Given the description of an element on the screen output the (x, y) to click on. 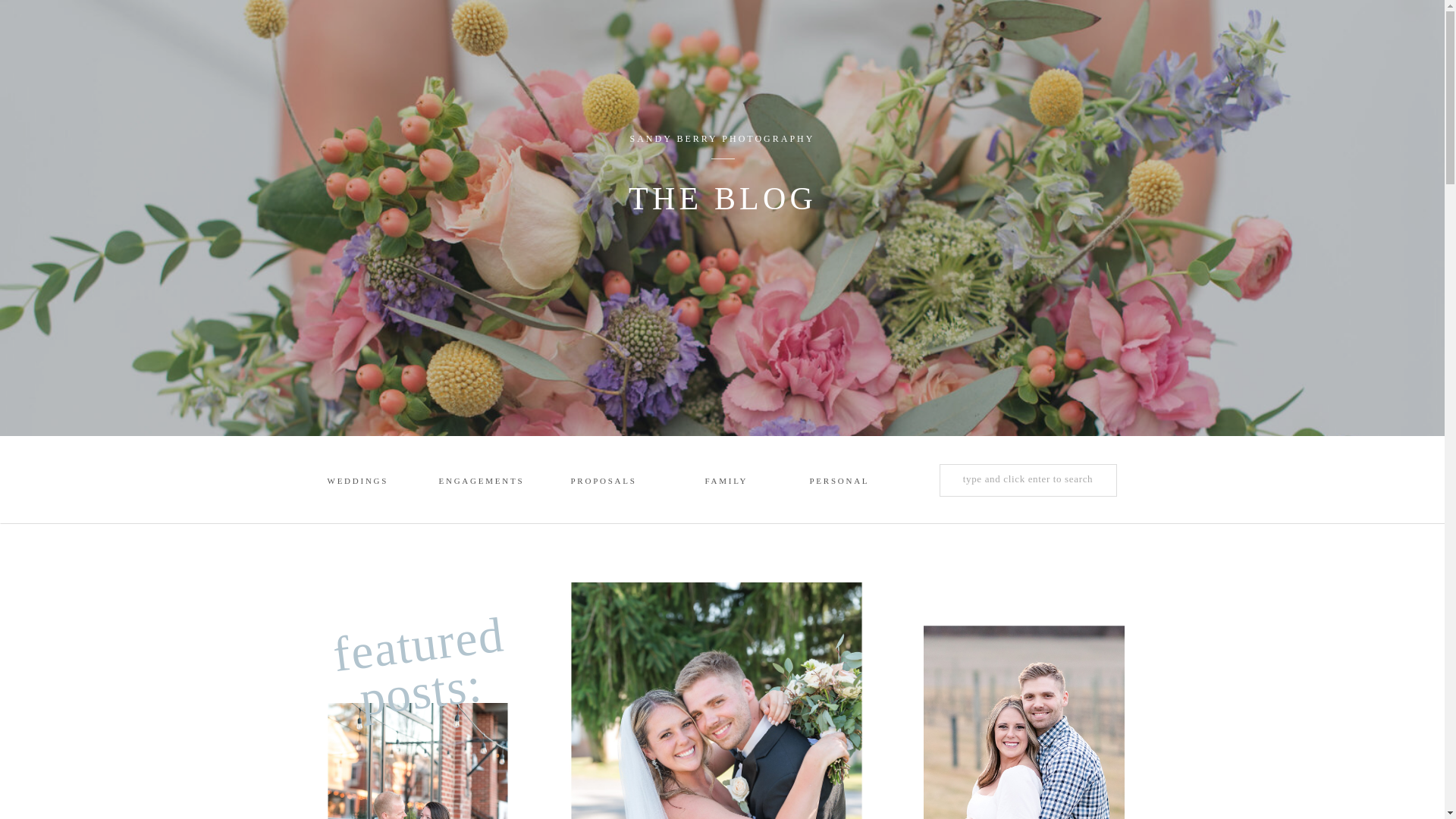
FAMILY (734, 482)
PROPOSALS (598, 482)
PERSONAL (838, 482)
ENGAGEMENTS (480, 482)
Sophie and Zach Downtown Lititz maternity session (417, 760)
WEDDINGS (357, 482)
